Given the description of an element on the screen output the (x, y) to click on. 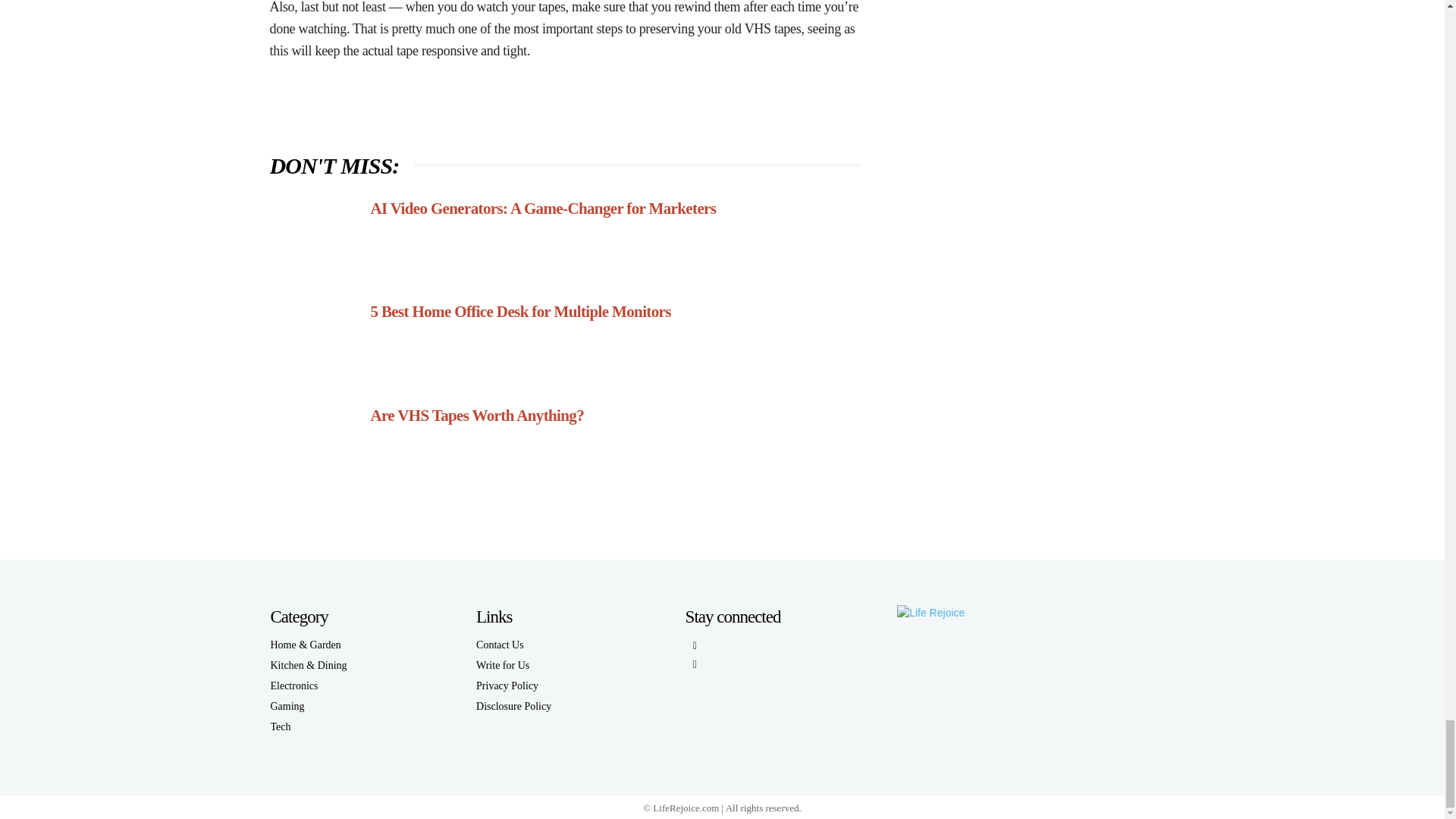
AI Video Generators: A Game-Changer for Marketers (313, 236)
Are VHS Tapes Worth Anything? (313, 444)
AI Video Generators: A Game-Changer for Marketers (542, 208)
AI Video Generators: A Game-Changer for Marketers (542, 208)
5 Best Home Office Desk for Multiple Monitors (519, 311)
Gaming (310, 706)
Privacy Policy (513, 685)
Write for Us (513, 665)
Electronics (310, 685)
5 Best Home Office Desk for Multiple Monitors (313, 340)
Are VHS Tapes Worth Anything? (476, 415)
Tech (310, 726)
Disclosure Policy (513, 706)
5 Best Home Office Desk for Multiple Monitors (519, 311)
Contact Us (513, 644)
